Given the description of an element on the screen output the (x, y) to click on. 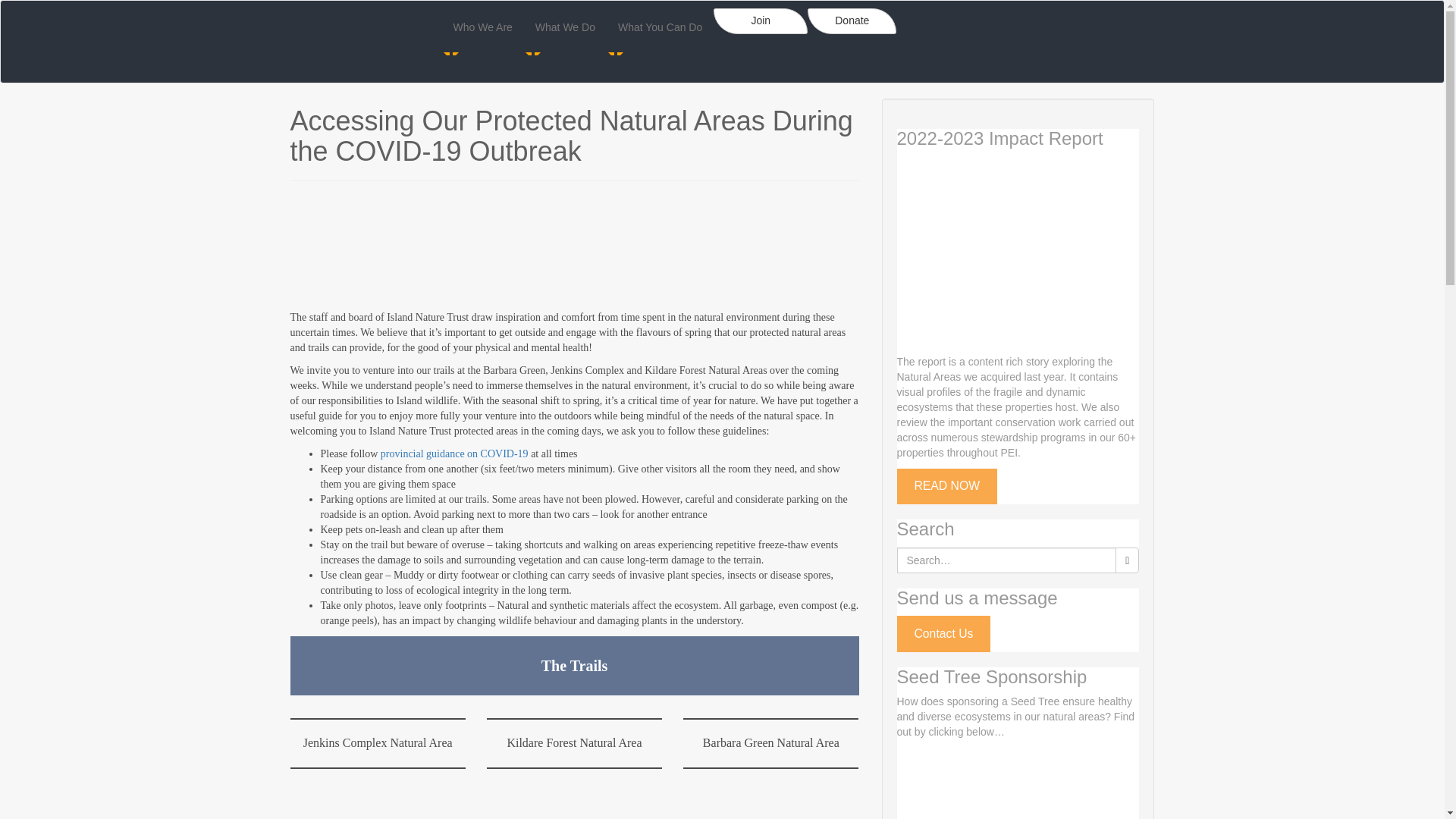
What We Do (565, 26)
What You Can Do (660, 26)
Who We Are (481, 26)
Donate (852, 21)
Search for: (1006, 560)
Join (760, 21)
